Given the description of an element on the screen output the (x, y) to click on. 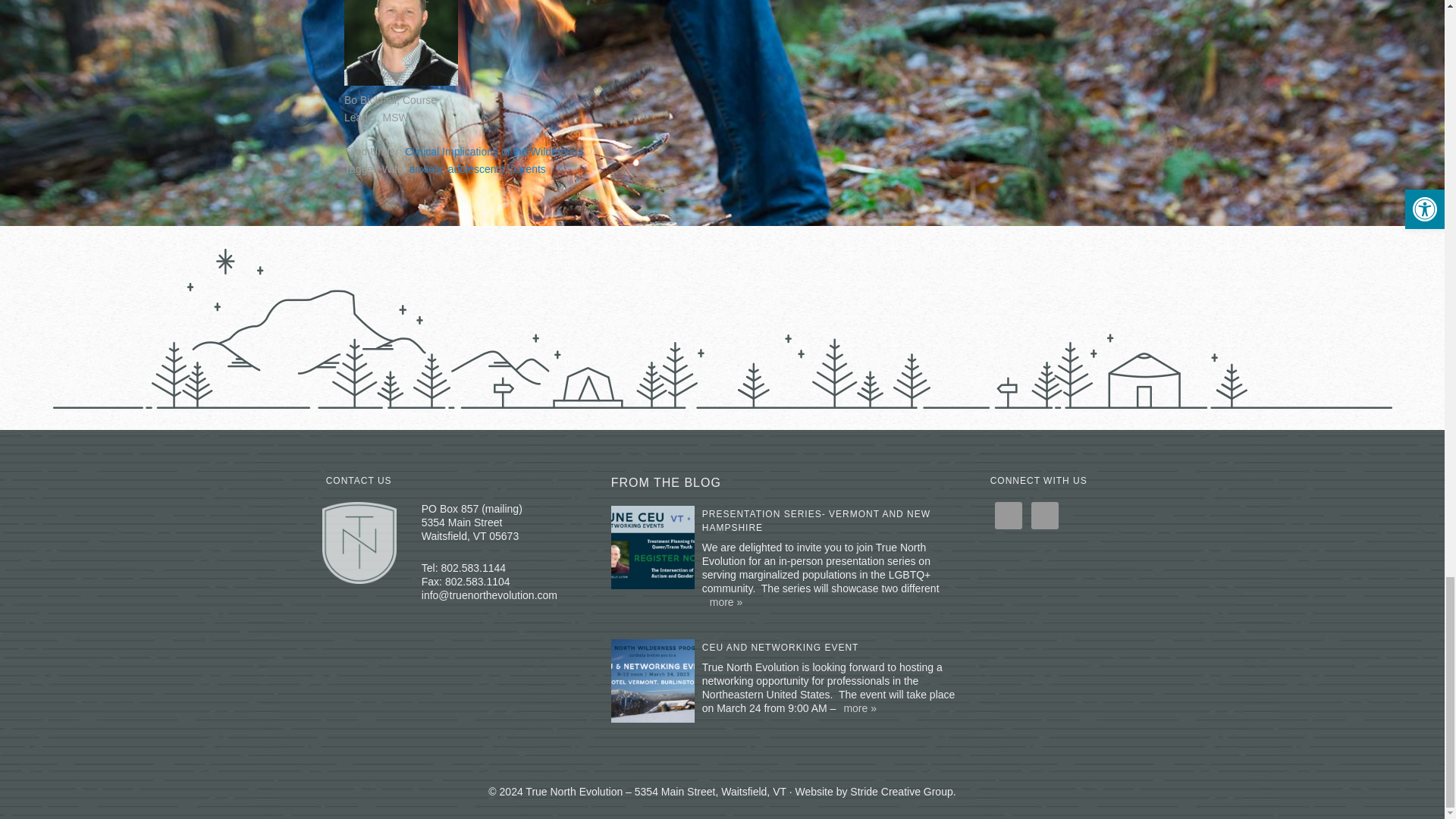
CEU and Networking Event (780, 647)
CEU and Networking Event (656, 687)
Presentation Series- Vermont and New Hampshire (815, 520)
Presentation Series- Vermont and New Hampshire (656, 553)
